Given the description of an element on the screen output the (x, y) to click on. 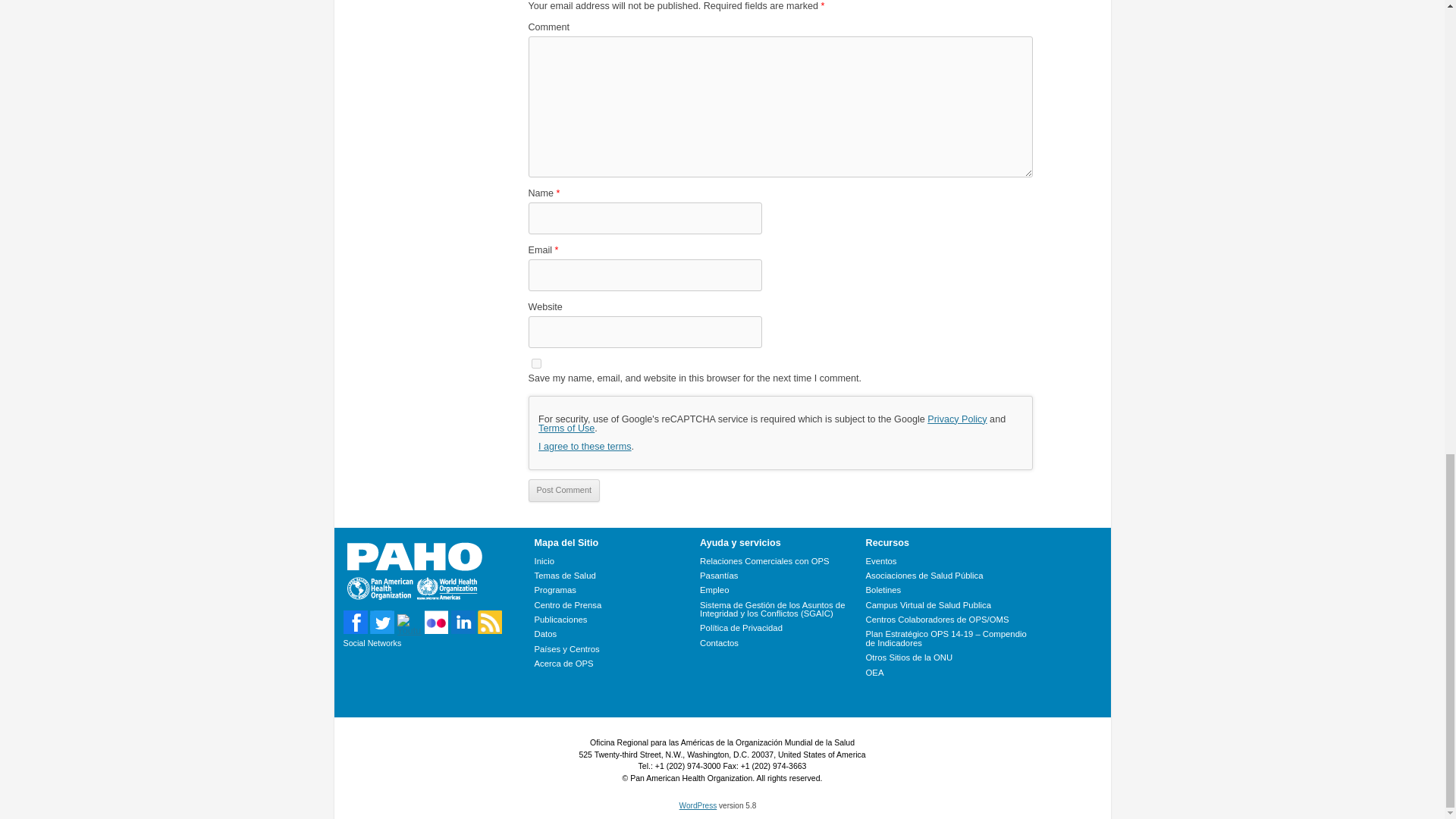
Post Comment (563, 490)
I agree to these terms (584, 446)
yes (535, 363)
Privacy Policy (957, 419)
Social Networks (371, 642)
WordPress.org (698, 805)
Post Comment (563, 490)
Terms of Use (566, 428)
